Given the description of an element on the screen output the (x, y) to click on. 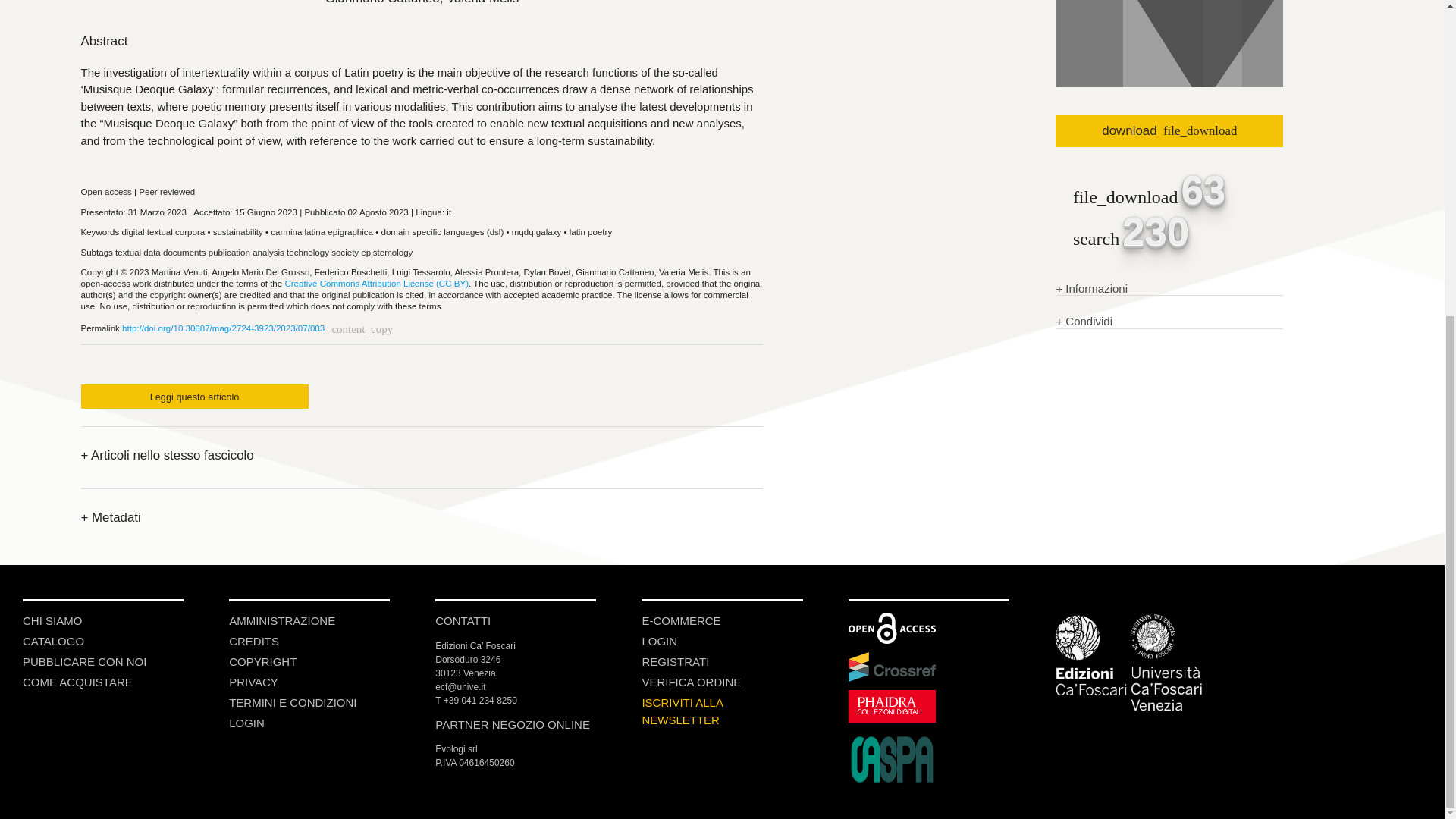
carmina latina epigraphica (321, 231)
sustainability (237, 231)
publication (229, 252)
analysis (267, 252)
technology (307, 252)
digital textual corpora (162, 231)
latin poetry (590, 231)
documents (184, 252)
Peer reviewed (166, 191)
textual data (137, 252)
mqdq galaxy (536, 231)
Open access (105, 191)
society (344, 252)
